Given the description of an element on the screen output the (x, y) to click on. 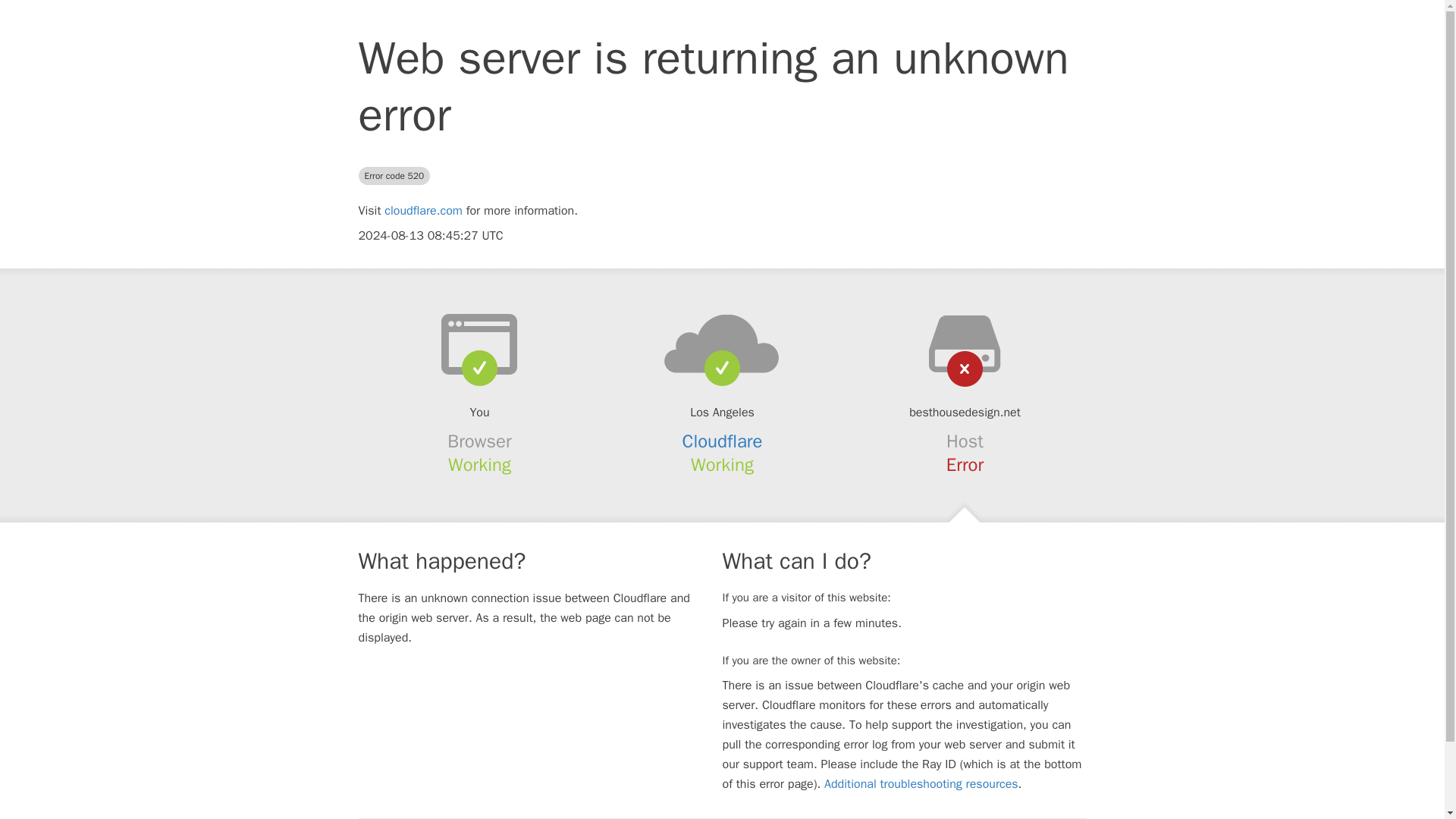
Additional troubleshooting resources (920, 783)
Cloudflare (722, 440)
cloudflare.com (423, 210)
